Given the description of an element on the screen output the (x, y) to click on. 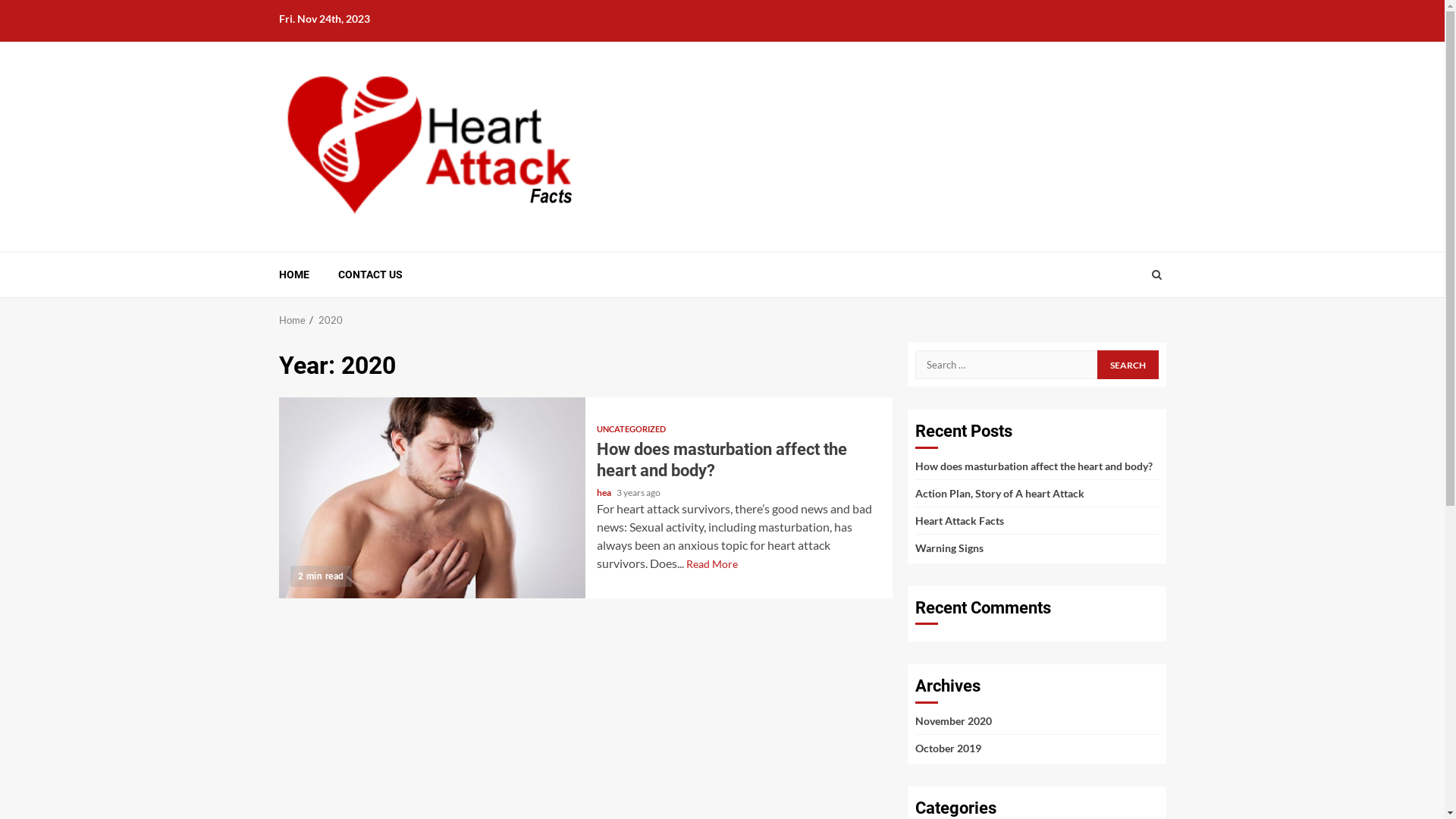
How does masturbation affect the heart and body? Element type: text (721, 459)
hea Element type: text (604, 492)
Search Element type: text (1126, 320)
HOME Element type: text (294, 274)
Search Element type: hover (1155, 274)
How does masturbation affect the heart and body? Element type: text (1032, 465)
Heart Attack Facts Element type: text (958, 520)
UNCATEGORIZED Element type: text (630, 428)
Home Element type: text (292, 319)
Action Plan, Story of A heart Attack Element type: text (998, 492)
November 2020 Element type: text (952, 720)
Warning Signs Element type: text (948, 547)
Search Element type: text (1127, 364)
CONTACT US Element type: text (370, 274)
October 2019 Element type: text (947, 747)
How does masturbation affect the heart and body? Element type: text (432, 497)
2020 Element type: text (330, 319)
Read More Element type: text (711, 563)
